Given the description of an element on the screen output the (x, y) to click on. 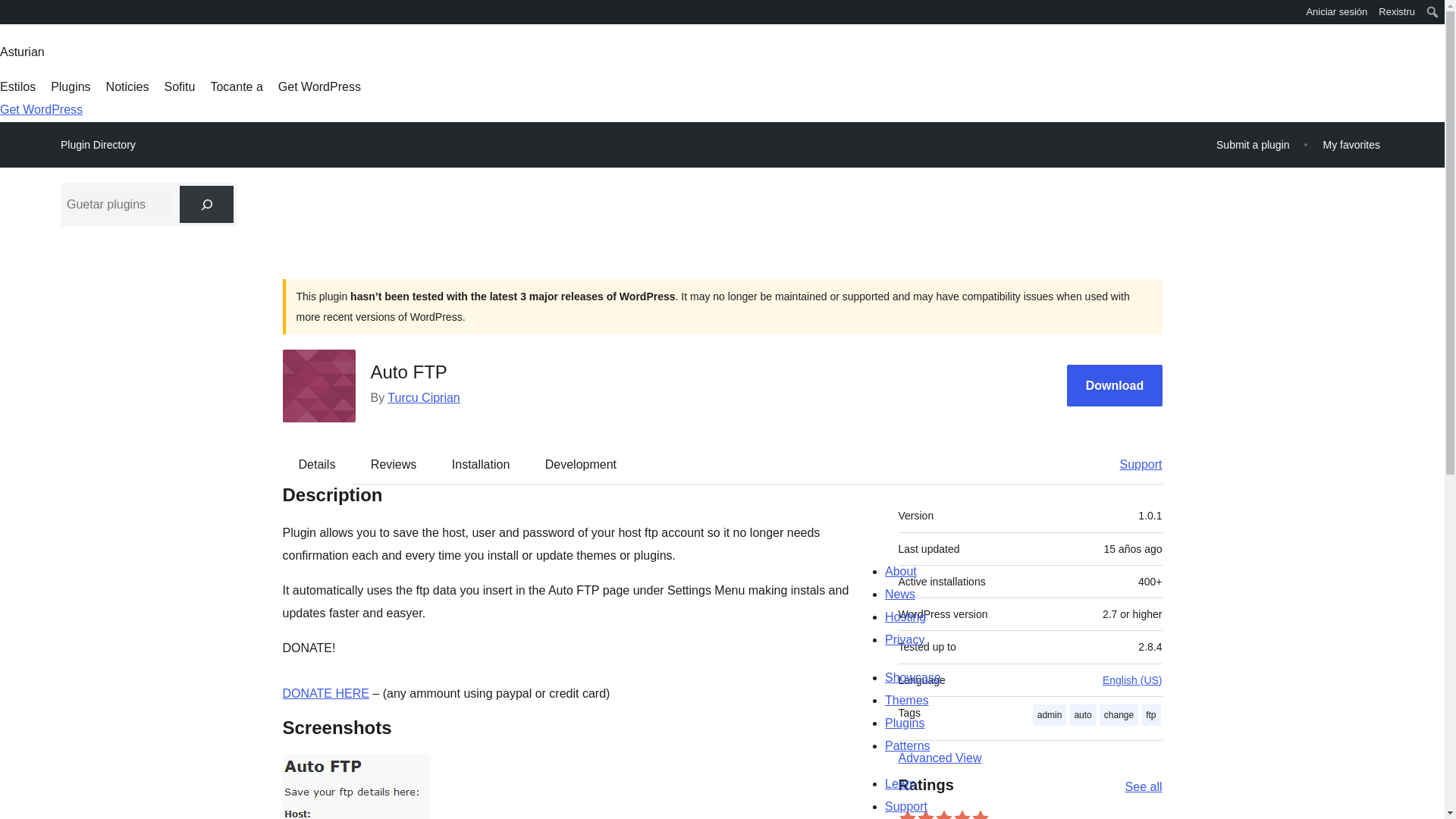
Noticies (127, 87)
Turcu Ciprian (423, 397)
Tocante a (235, 87)
Reviews (392, 464)
Estilos (17, 87)
Installation (480, 464)
Details (316, 464)
Get WordPress (319, 87)
Rexistru (1397, 12)
Submit a plugin (1253, 144)
Development (580, 464)
DONATE HERE (325, 693)
Support (1132, 464)
WordPress.org (10, 16)
Plugin Directory (97, 144)
